Given the description of an element on the screen output the (x, y) to click on. 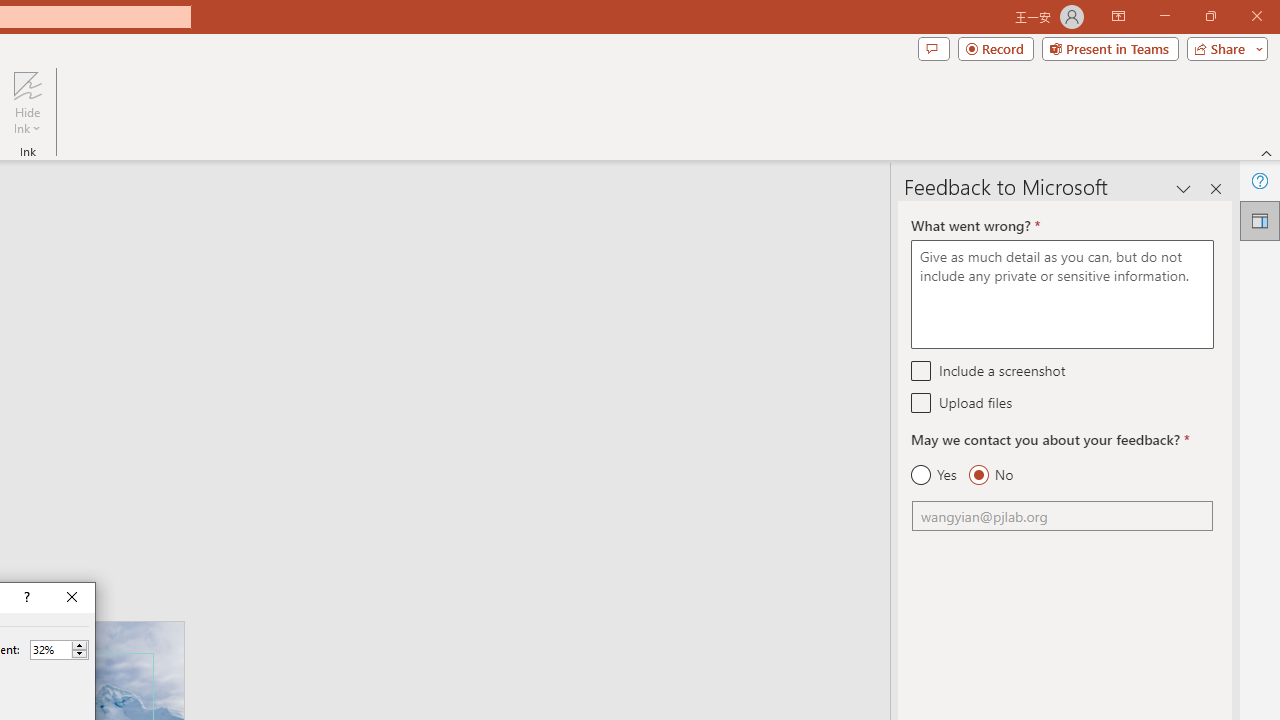
Email (1062, 516)
Hide Ink (27, 102)
Upload files (921, 402)
What went wrong? * (1062, 294)
Percent (50, 649)
Feedback to Microsoft (1260, 220)
Percent (59, 650)
Yes (934, 475)
More (79, 645)
